Given the description of an element on the screen output the (x, y) to click on. 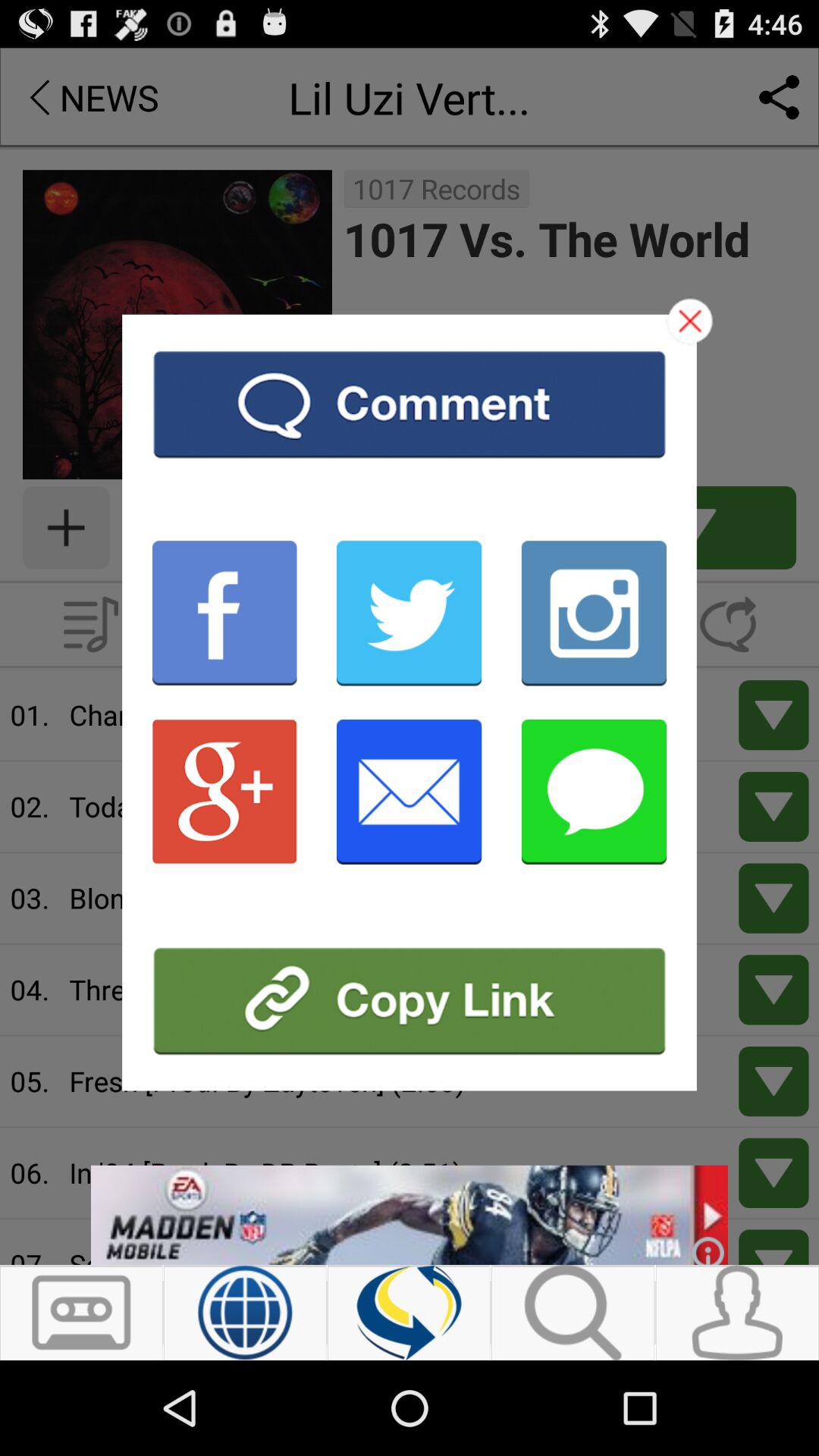
share on google plus (224, 791)
